Given the description of an element on the screen output the (x, y) to click on. 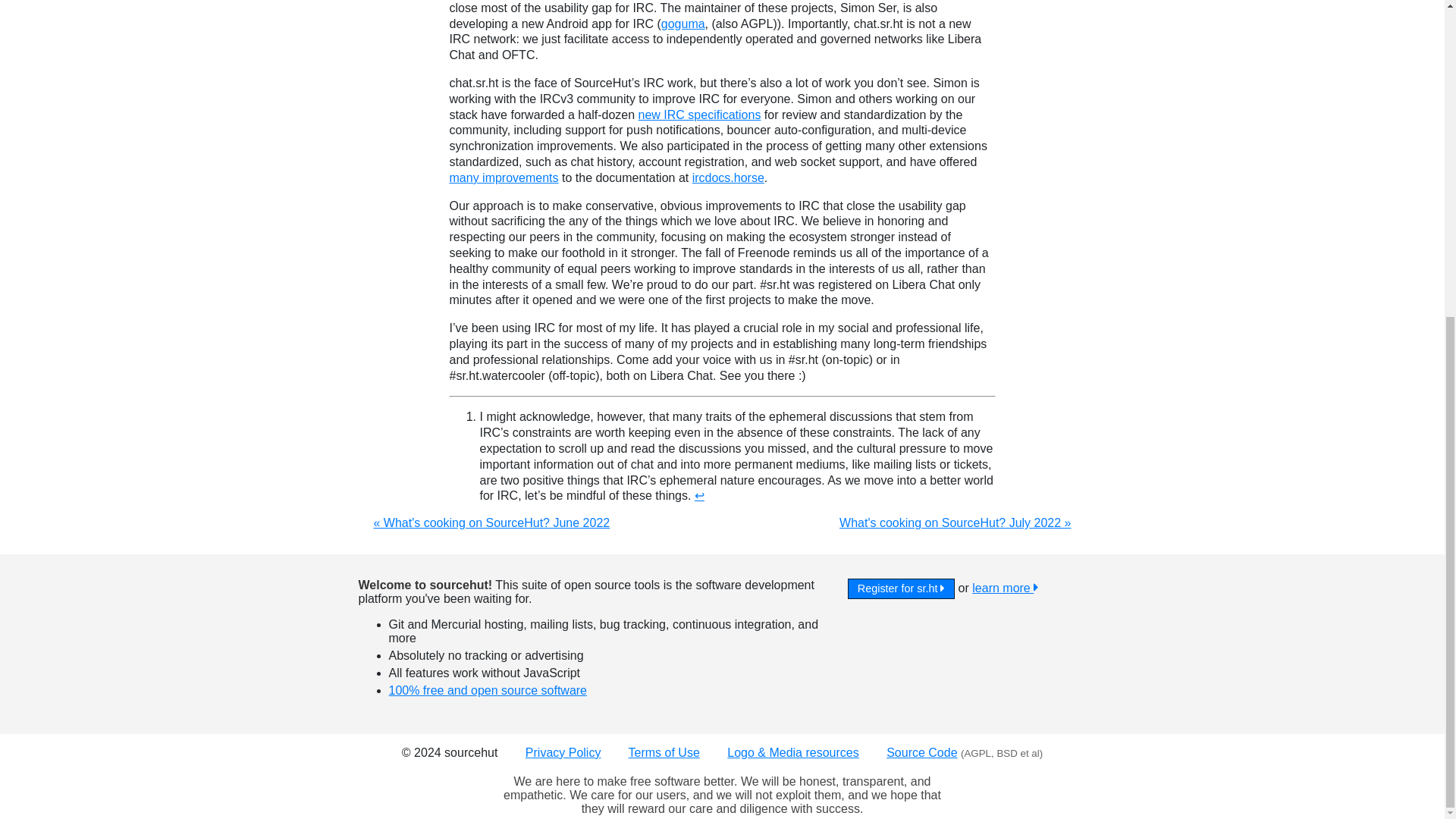
many improvements (502, 177)
ircdocs.horse (728, 177)
new IRC specifications (700, 114)
Privacy Policy (563, 752)
goguma (682, 23)
Terms of Use (664, 752)
learn more (1005, 587)
Source Code (921, 752)
Register for sr.ht (901, 588)
